Given the description of an element on the screen output the (x, y) to click on. 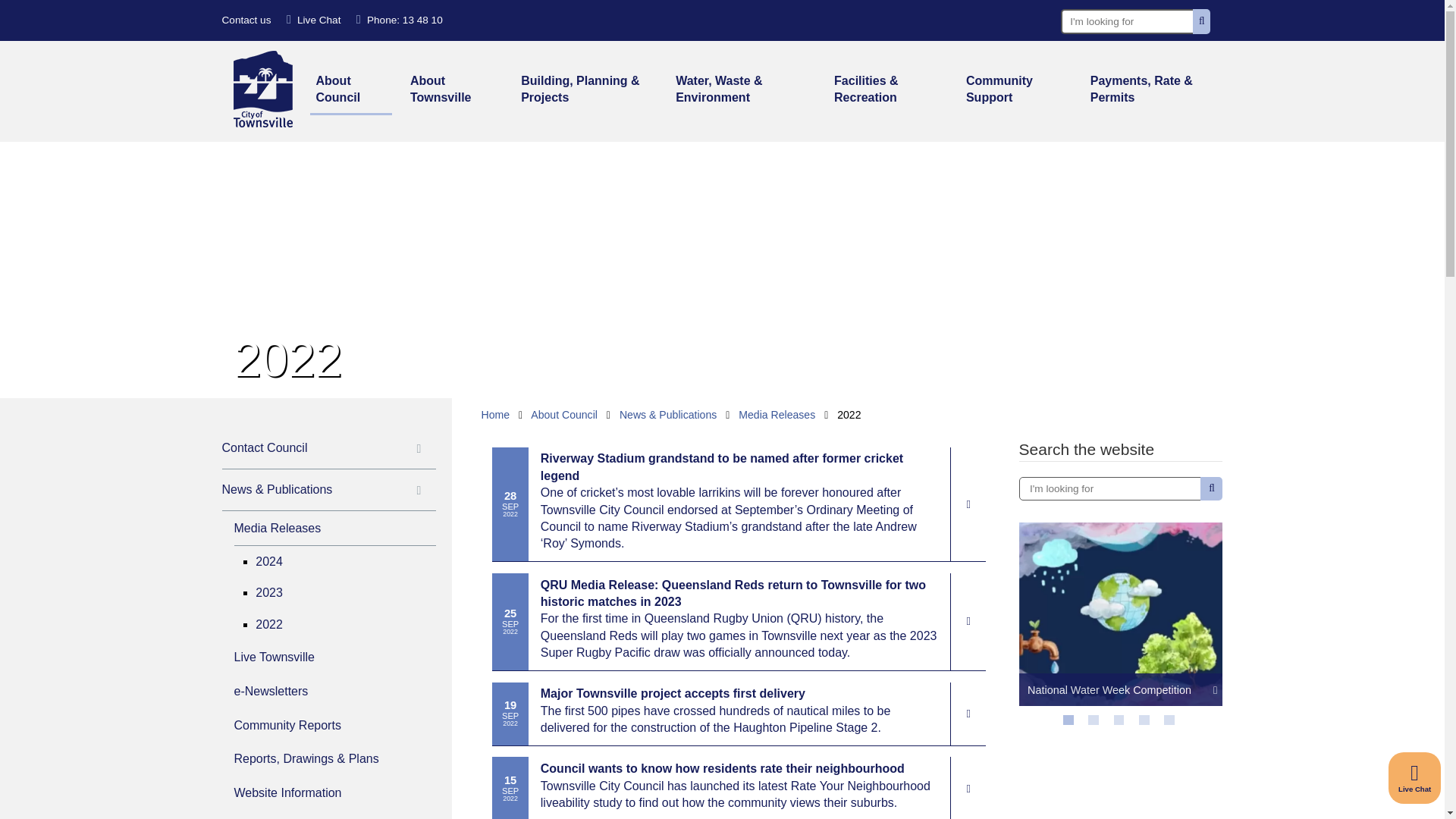
Chat with a Townsville City Council representative. (313, 20)
Live Chat (313, 20)
Contact us (245, 20)
Live Chat (1415, 777)
Phone: 13 48 10 (399, 20)
About Council (349, 90)
Chat with a Townsville City Council representative. (1415, 777)
